Given the description of an element on the screen output the (x, y) to click on. 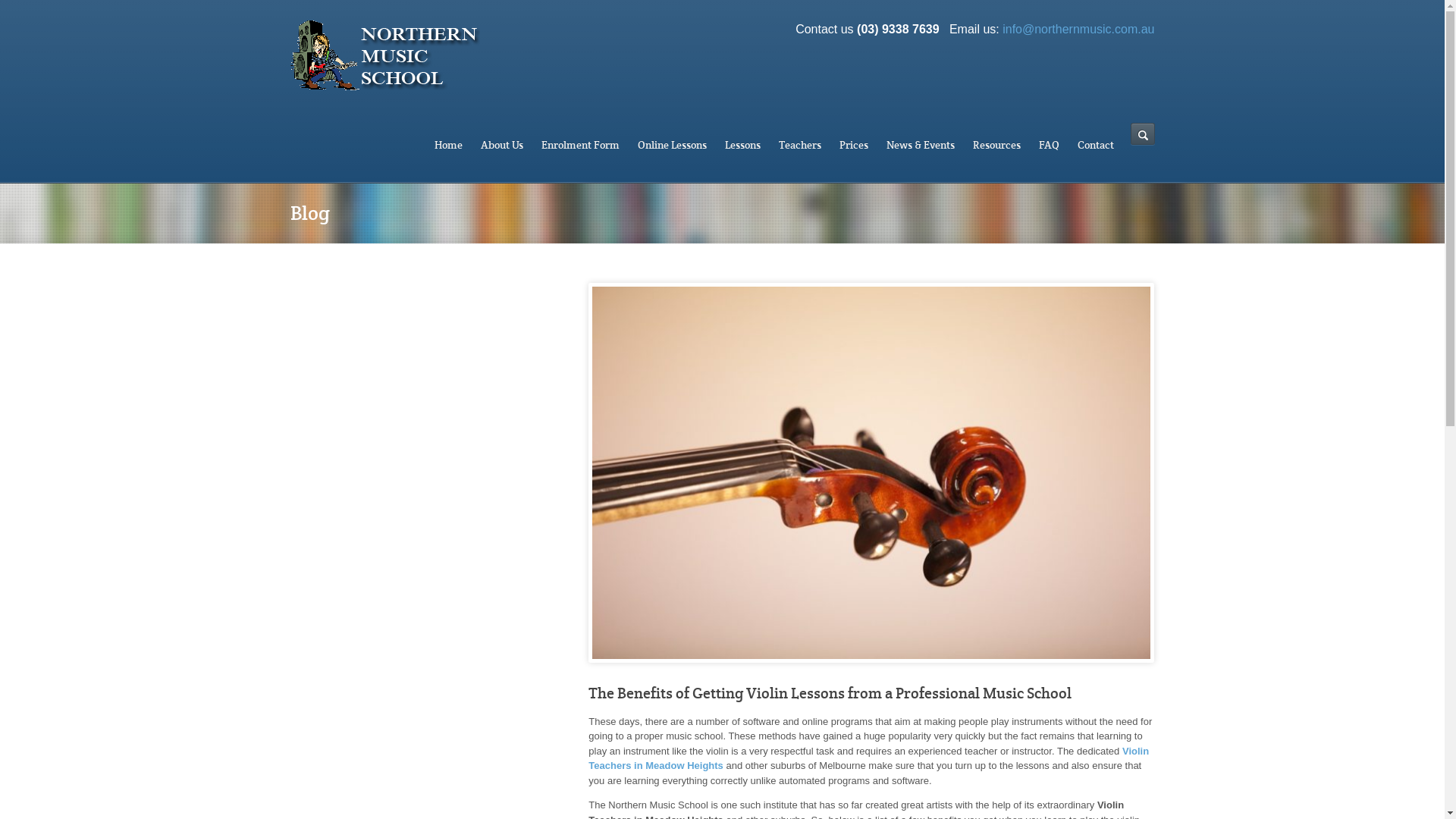
News & Events Element type: text (919, 144)
Lessons Element type: text (742, 144)
Online Lessons Element type: text (671, 144)
Resources Element type: text (996, 144)
Prices Element type: text (852, 144)
FAQ Element type: text (1048, 144)
About Us Element type: text (501, 144)
Home Element type: text (447, 144)
Enrolment Form Element type: text (580, 144)
Violin Teachers in Meadow Heights Element type: text (868, 758)
Teachers Element type: text (798, 144)
info@northernmusic.com.au Element type: text (1078, 28)
Contact Element type: text (1094, 144)
